Given the description of an element on the screen output the (x, y) to click on. 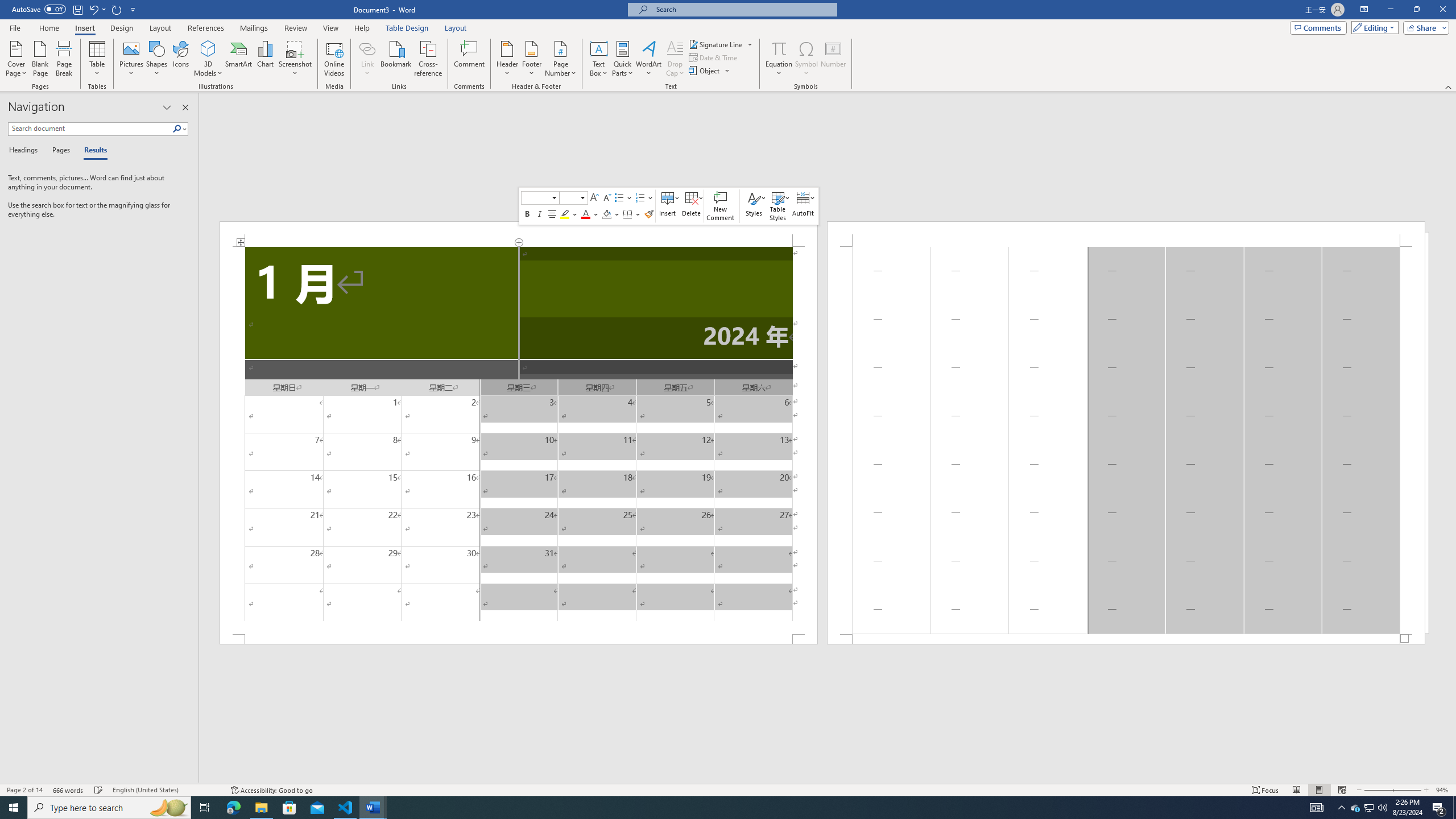
Text Box (598, 58)
Shrink Font (605, 197)
Quick Parts (622, 58)
Object... (705, 69)
